Given the description of an element on the screen output the (x, y) to click on. 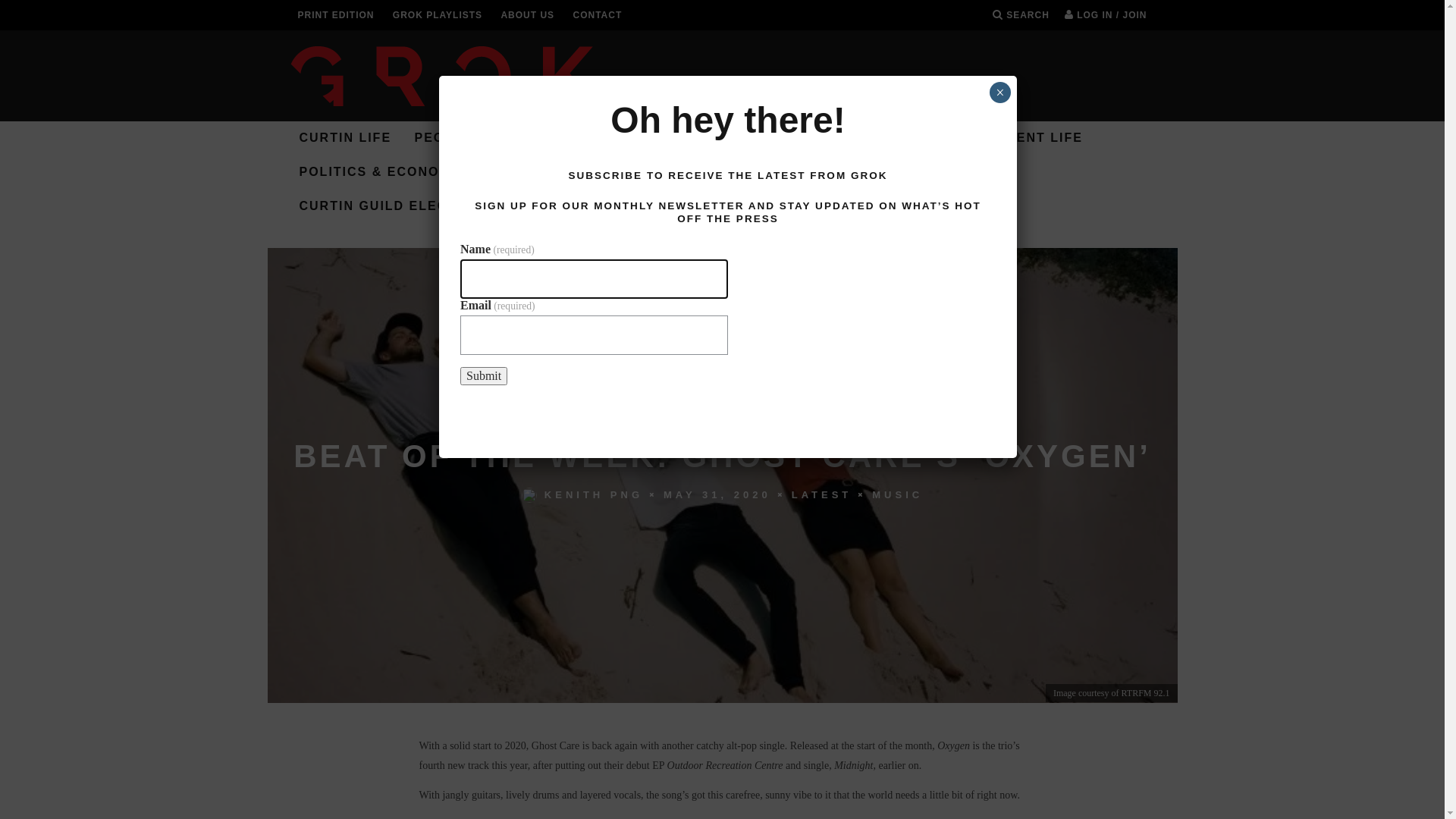
PEOPLE OF CURTIN Element type: text (484, 138)
CURTIN GUILD ELECTION Element type: text (390, 206)
ABOUT US Element type: text (527, 15)
ART & FILM Element type: text (842, 138)
PRINT EDITION Element type: text (335, 15)
SEARCH Element type: text (1020, 15)
LATEST Element type: text (821, 494)
Log In Element type: text (727, 434)
GUILD SURVIVAL GUIDE Element type: text (883, 172)
KENITH PNG Element type: text (593, 494)
LOG IN / JOIN Element type: text (1105, 15)
WHAT MATTERS AT CURTIN Element type: text (678, 138)
SCIENCE & TECH Element type: text (560, 172)
Submit Element type: text (483, 376)
PROSE & POETRY Element type: text (709, 172)
MUSIC Element type: text (897, 494)
MUSIC Element type: text (930, 138)
CURTIN LIFE Element type: text (344, 138)
POLITICS & ECONOMICS Element type: text (386, 172)
CONTACT Element type: text (596, 15)
STUDENT LIFE Element type: text (1030, 138)
GROK PLAYLISTS Element type: text (437, 15)
